Given the description of an element on the screen output the (x, y) to click on. 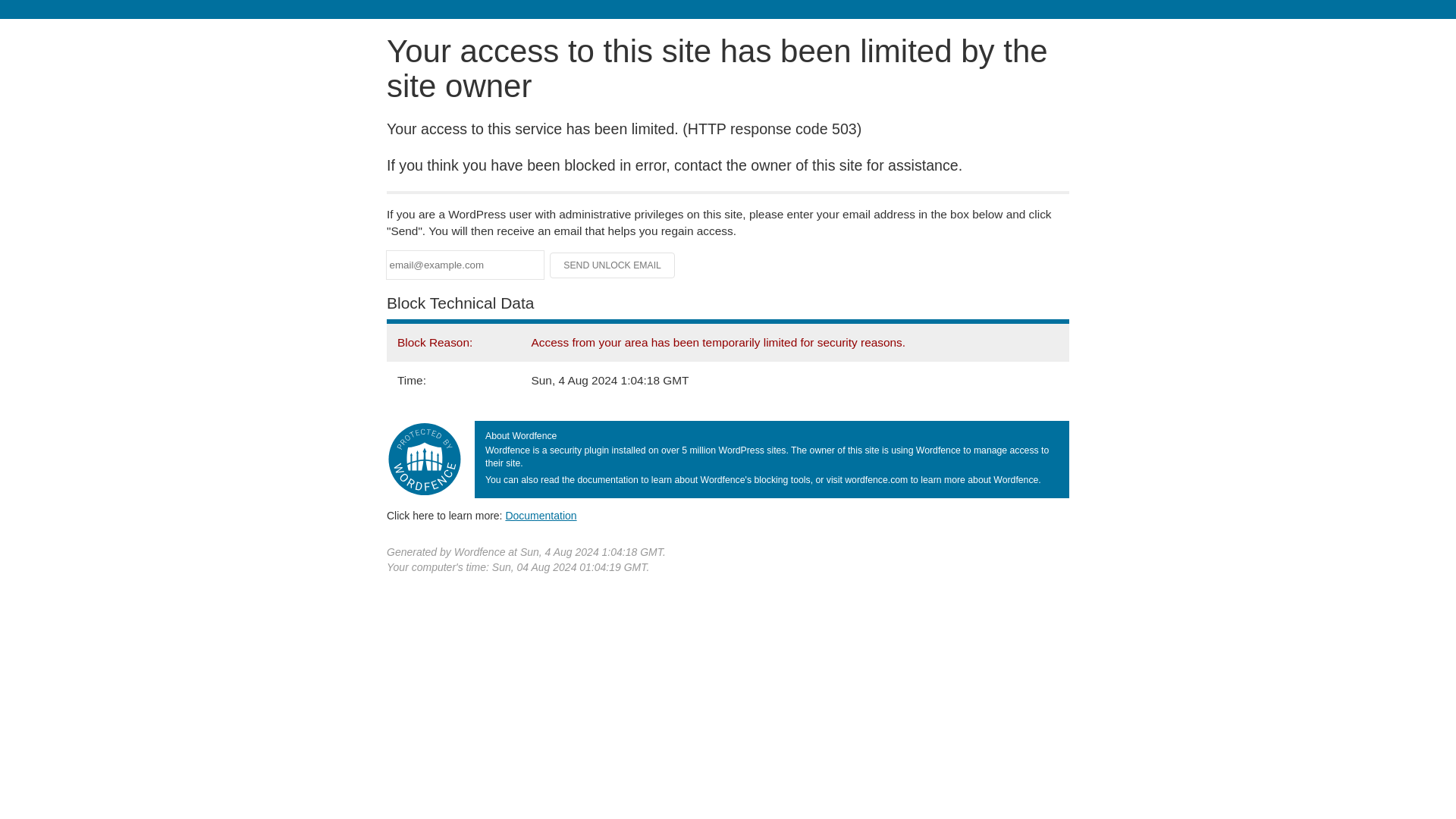
Send Unlock Email (612, 265)
Documentation (540, 515)
Send Unlock Email (612, 265)
